Given the description of an element on the screen output the (x, y) to click on. 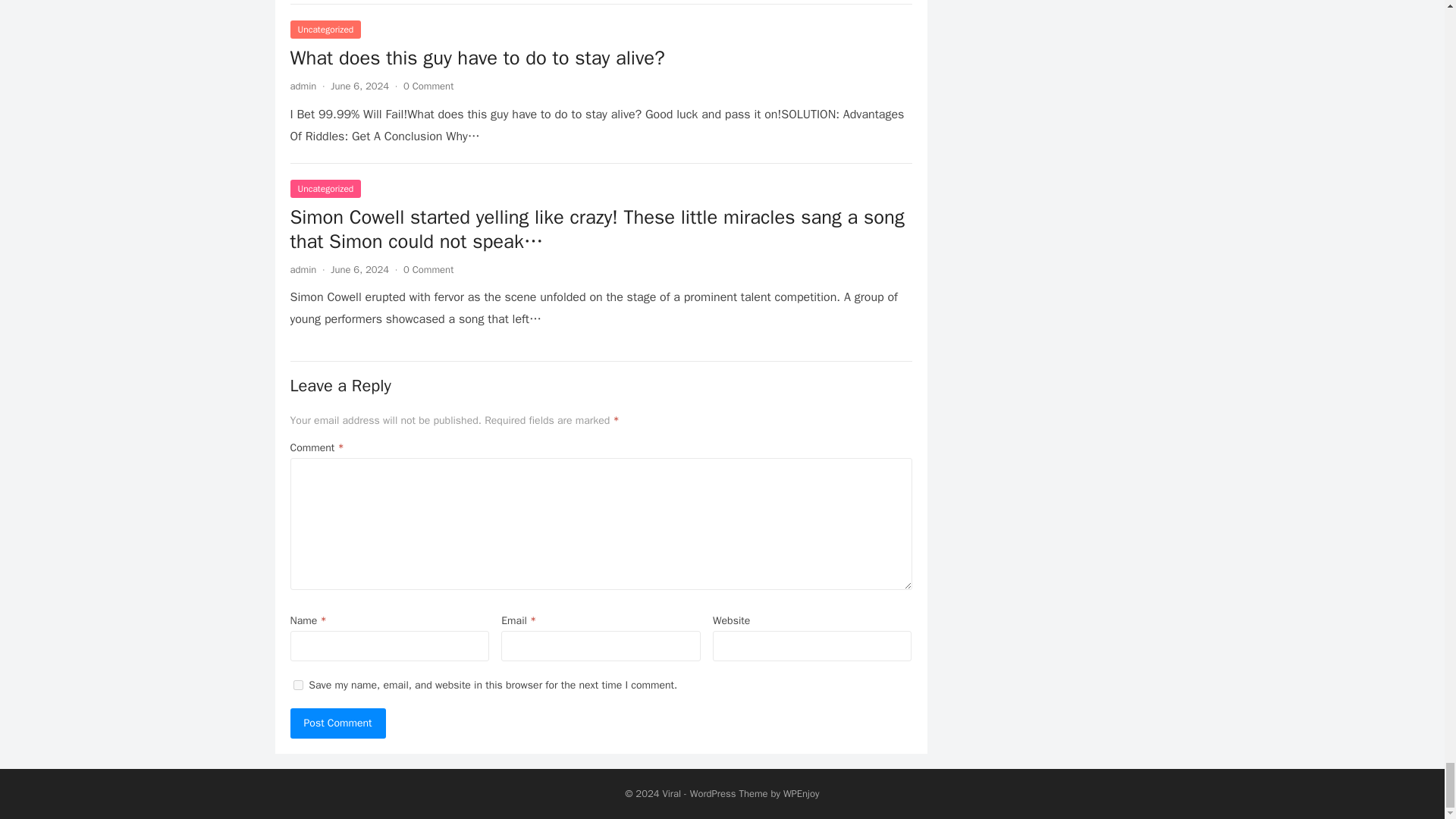
Post Comment (337, 723)
What does this guy have to do to stay alive? (476, 57)
Uncategorized (325, 29)
Post Comment (337, 723)
yes (297, 685)
0 Comment (427, 85)
Posts by admin (302, 85)
admin (302, 85)
0 Comment (427, 269)
admin (302, 269)
Posts by admin (302, 269)
Uncategorized (325, 188)
